Given the description of an element on the screen output the (x, y) to click on. 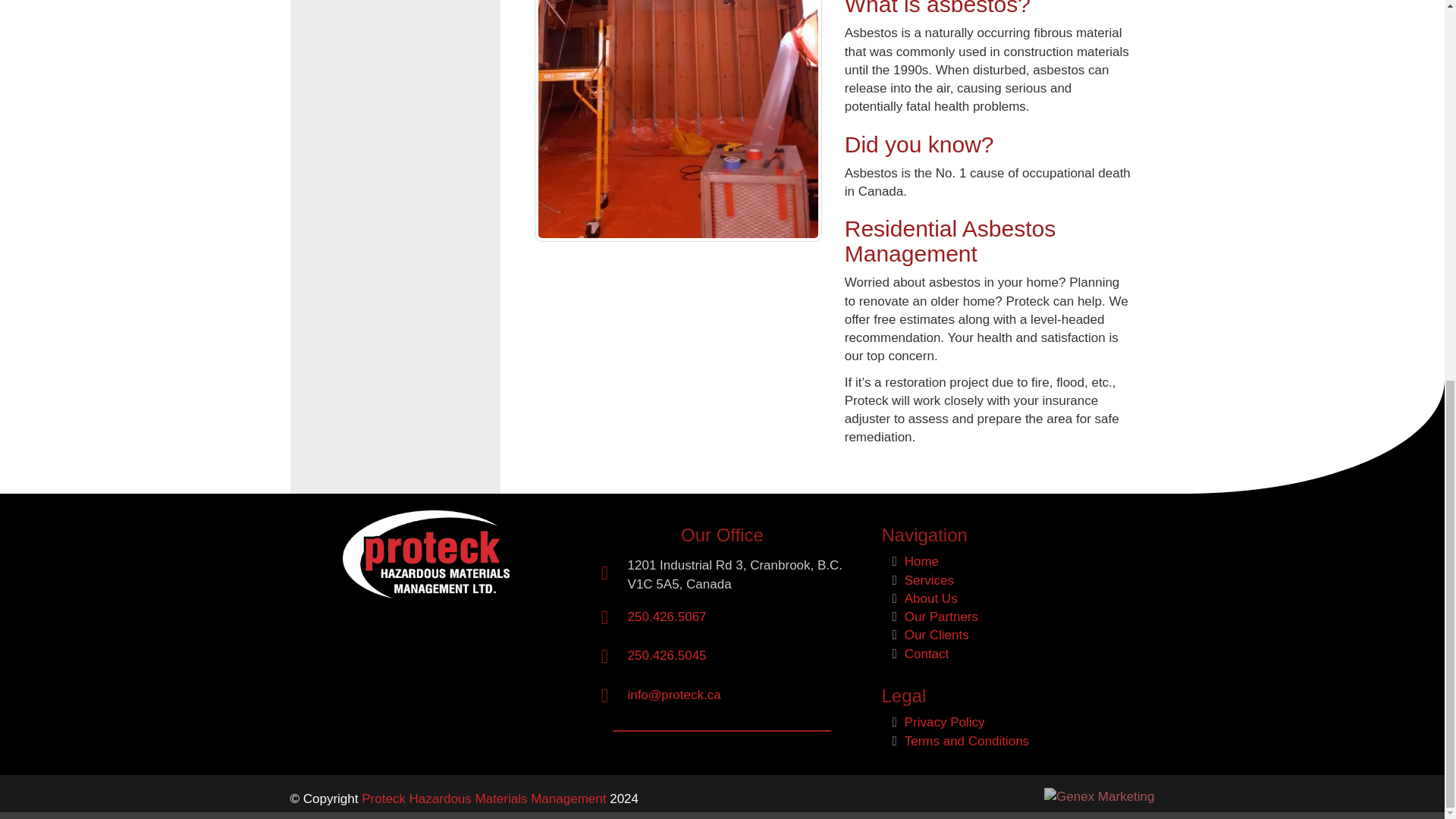
Proteck Hazardous Materials Management (485, 798)
Our Clients (936, 635)
250.426.5067 (666, 616)
250.426.5045 (666, 655)
Services (928, 580)
Terms and Conditions (966, 740)
Contact (926, 653)
Privacy Policy (944, 721)
Home (921, 561)
Our Partners (941, 616)
